Given the description of an element on the screen output the (x, y) to click on. 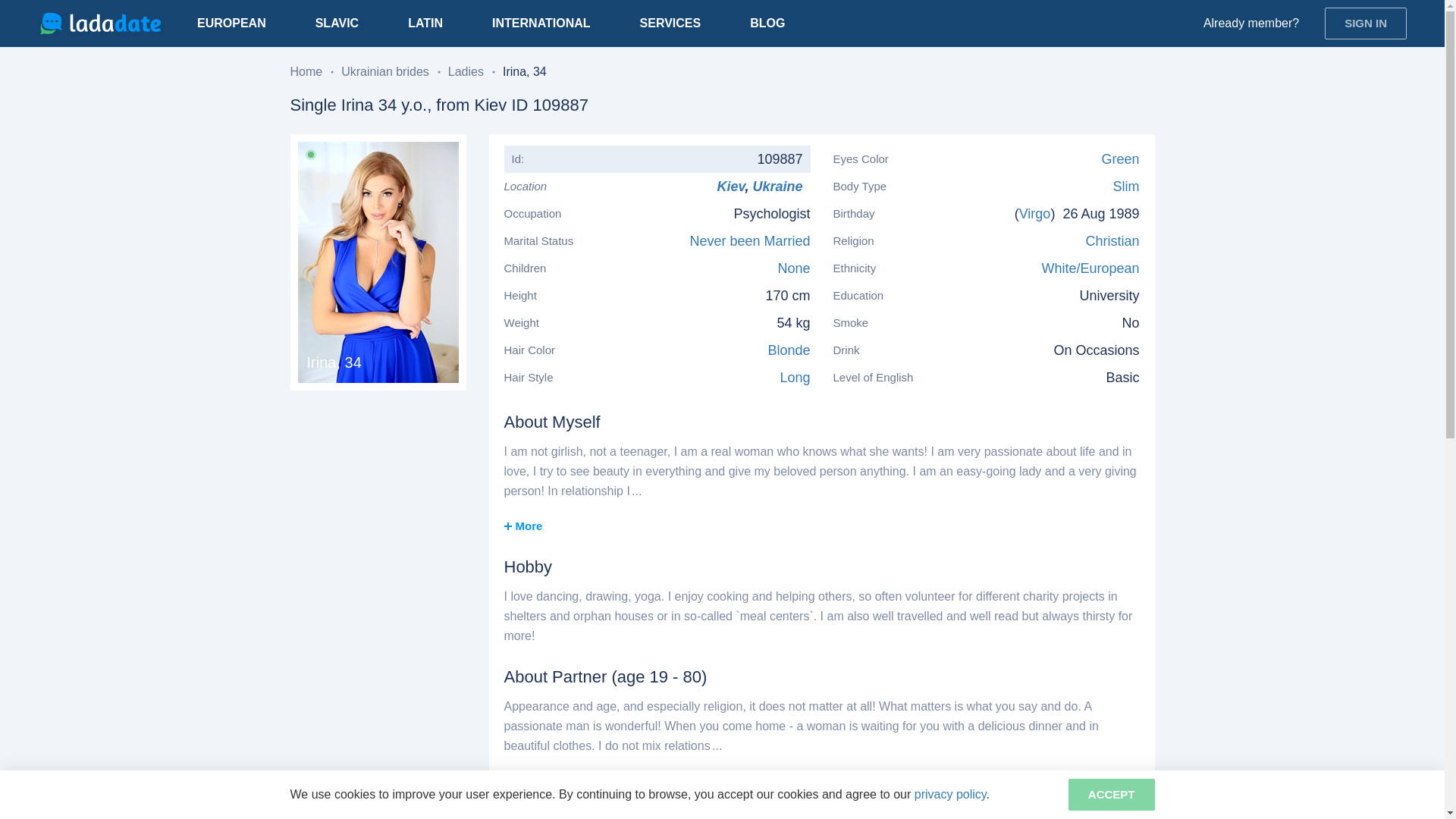
Never been Married (748, 240)
Kiev (730, 186)
LATIN (424, 23)
Home (305, 71)
SLAVIC (336, 23)
Ladies (465, 71)
Ukraine   (780, 186)
SERVICES (670, 23)
BLOG (767, 23)
INTERNATIONAL (540, 23)
EUROPEAN (231, 23)
SIGN IN (1365, 23)
Ukrainian brides (384, 71)
